Given the description of an element on the screen output the (x, y) to click on. 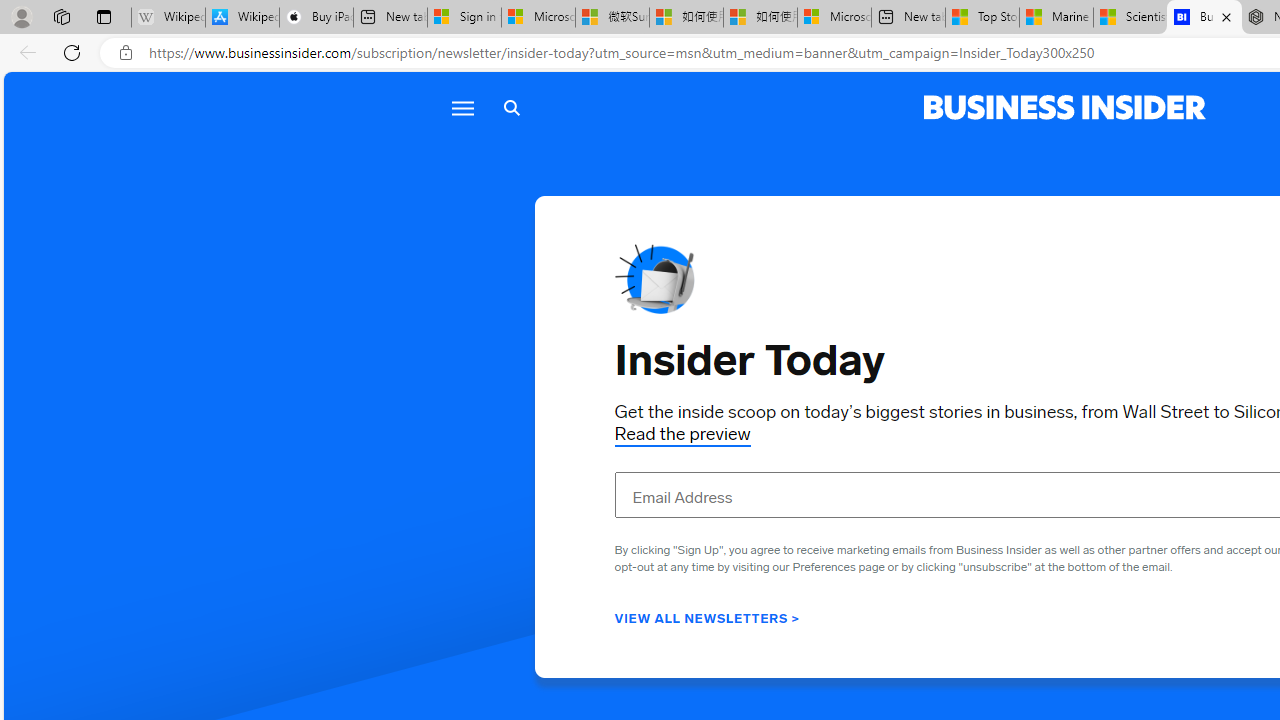
VIEW ALL NEWSLETTERS > (707, 617)
Menu (461, 107)
Search icon (511, 107)
